Given the description of an element on the screen output the (x, y) to click on. 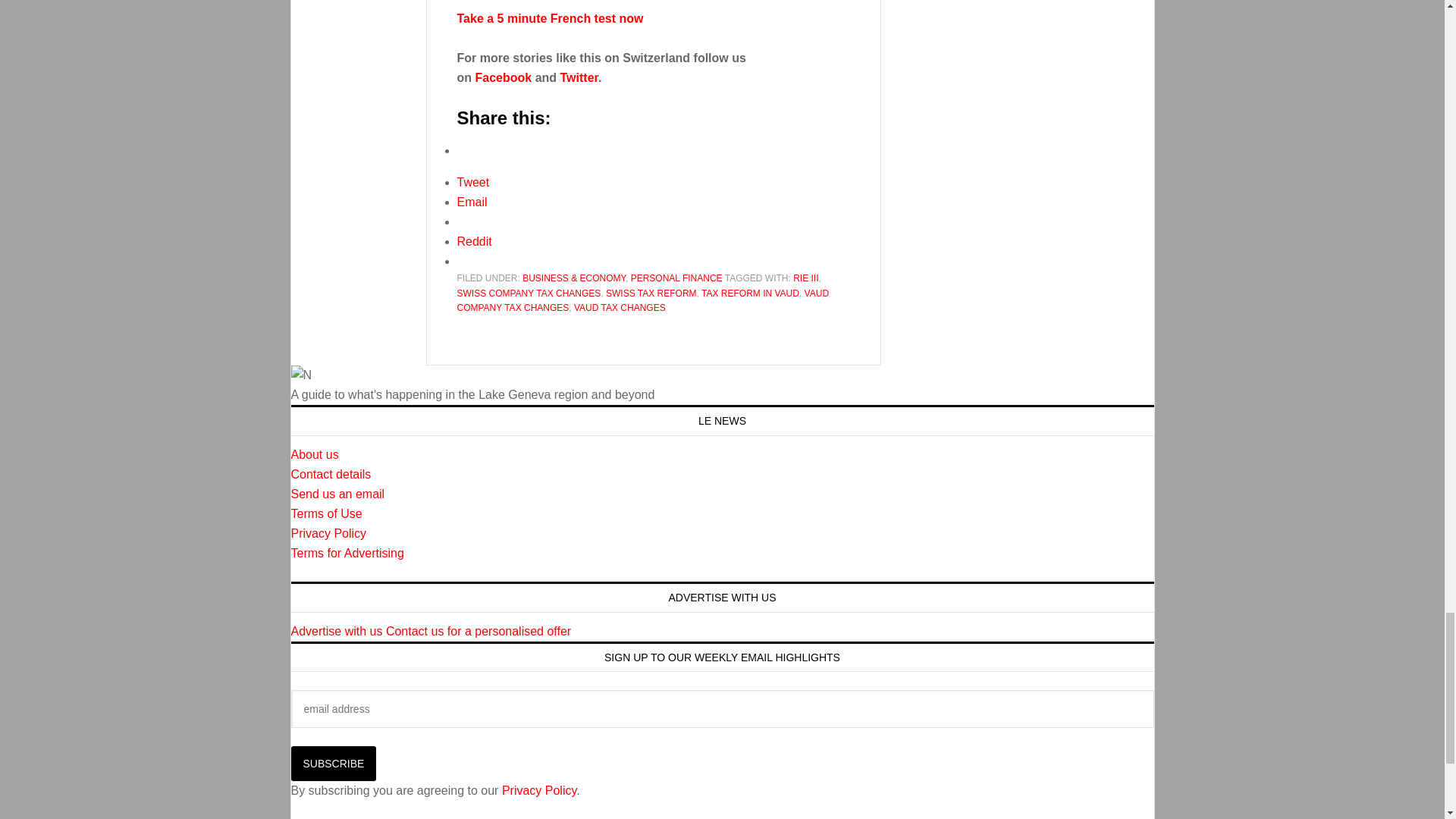
CONTACT (331, 473)
Advertising Terms and Conditions (347, 553)
Privacy Policy (328, 533)
Subscribe (334, 763)
Click to share on Reddit (474, 241)
Click to email a link to a friend (471, 201)
Terms and Conditions (326, 513)
ABOUT US (315, 454)
